Given the description of an element on the screen output the (x, y) to click on. 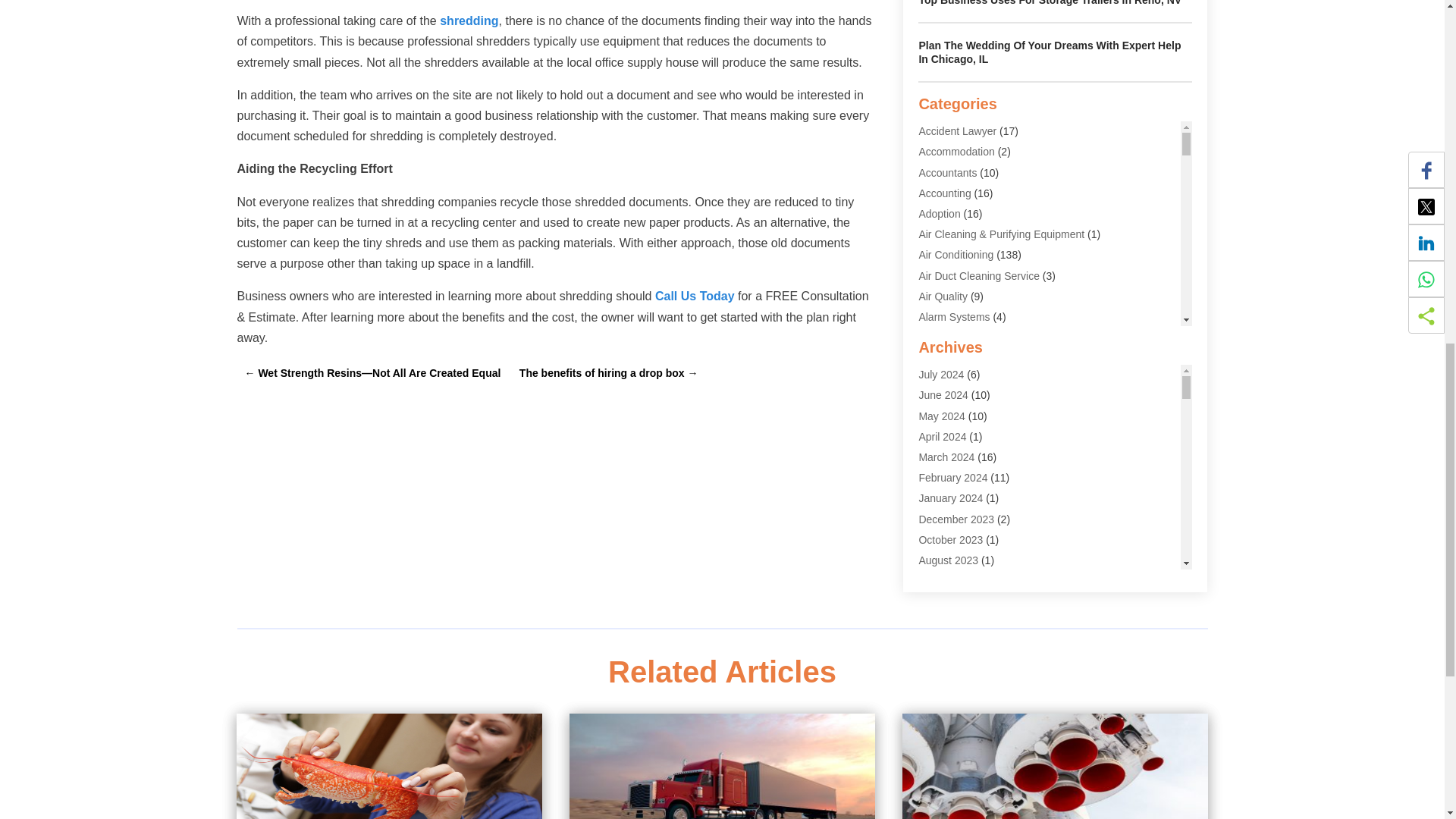
Accounting (944, 193)
Top Business Uses For Storage Trailers In Reno, NV (1049, 2)
Air Conditioning (955, 254)
Alarm Systems (954, 316)
Call Us Today (695, 295)
Accountants (947, 173)
Adoption (938, 214)
Accident Lawyer (956, 131)
Alignment (941, 337)
shredding (468, 20)
Air Quality (943, 296)
Allergies (938, 357)
Accommodation (956, 151)
Air Duct Cleaning Service (978, 275)
